Given the description of an element on the screen output the (x, y) to click on. 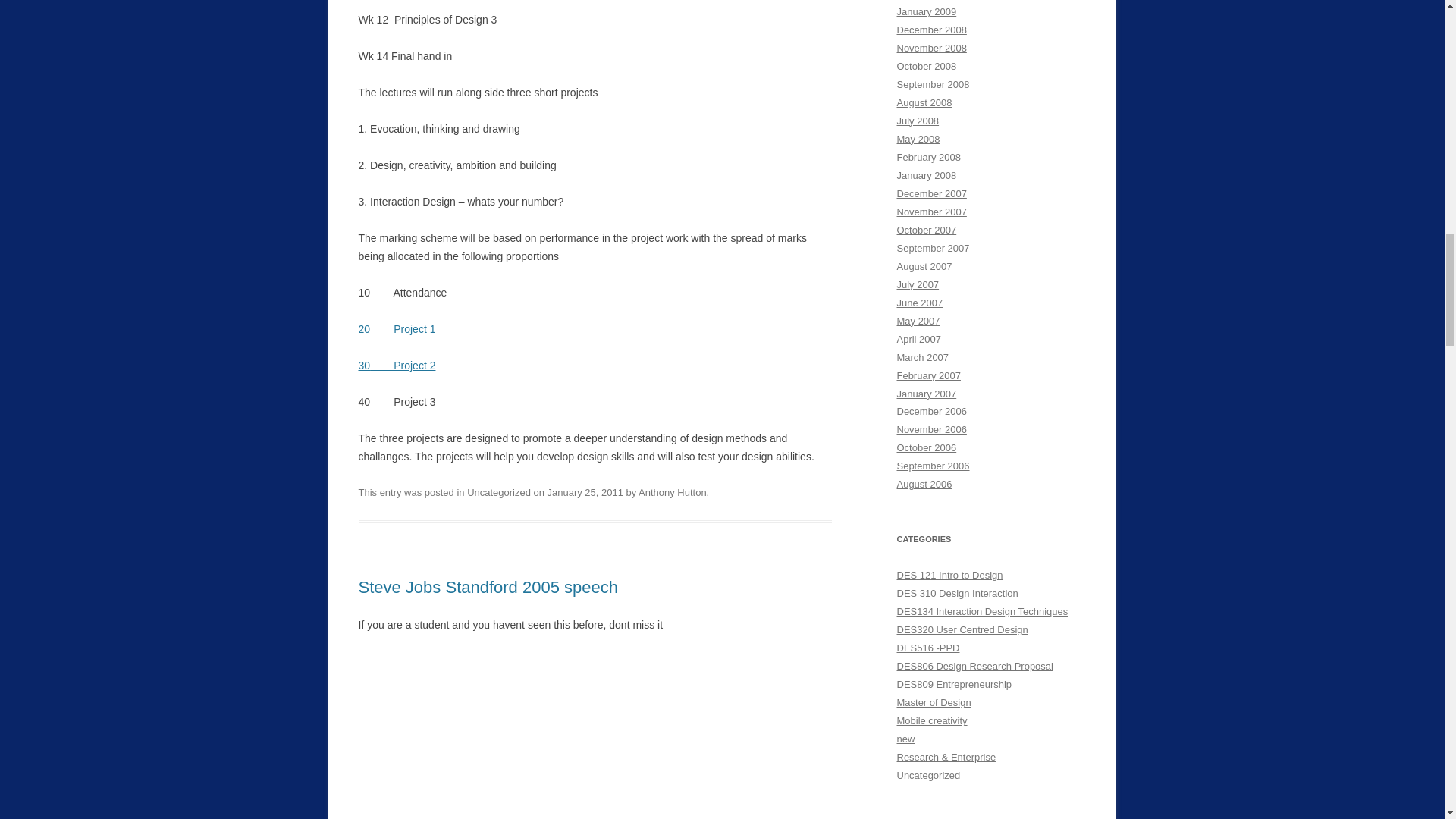
View all posts by Anthony Hutton (672, 491)
Anthony Hutton (672, 491)
1:31 pm (585, 491)
30        Project 2 (396, 365)
January 25, 2011 (585, 491)
20        Project 1 (396, 328)
Steve Jobs Standford 2005 speech (487, 587)
Uncategorized (499, 491)
